Given the description of an element on the screen output the (x, y) to click on. 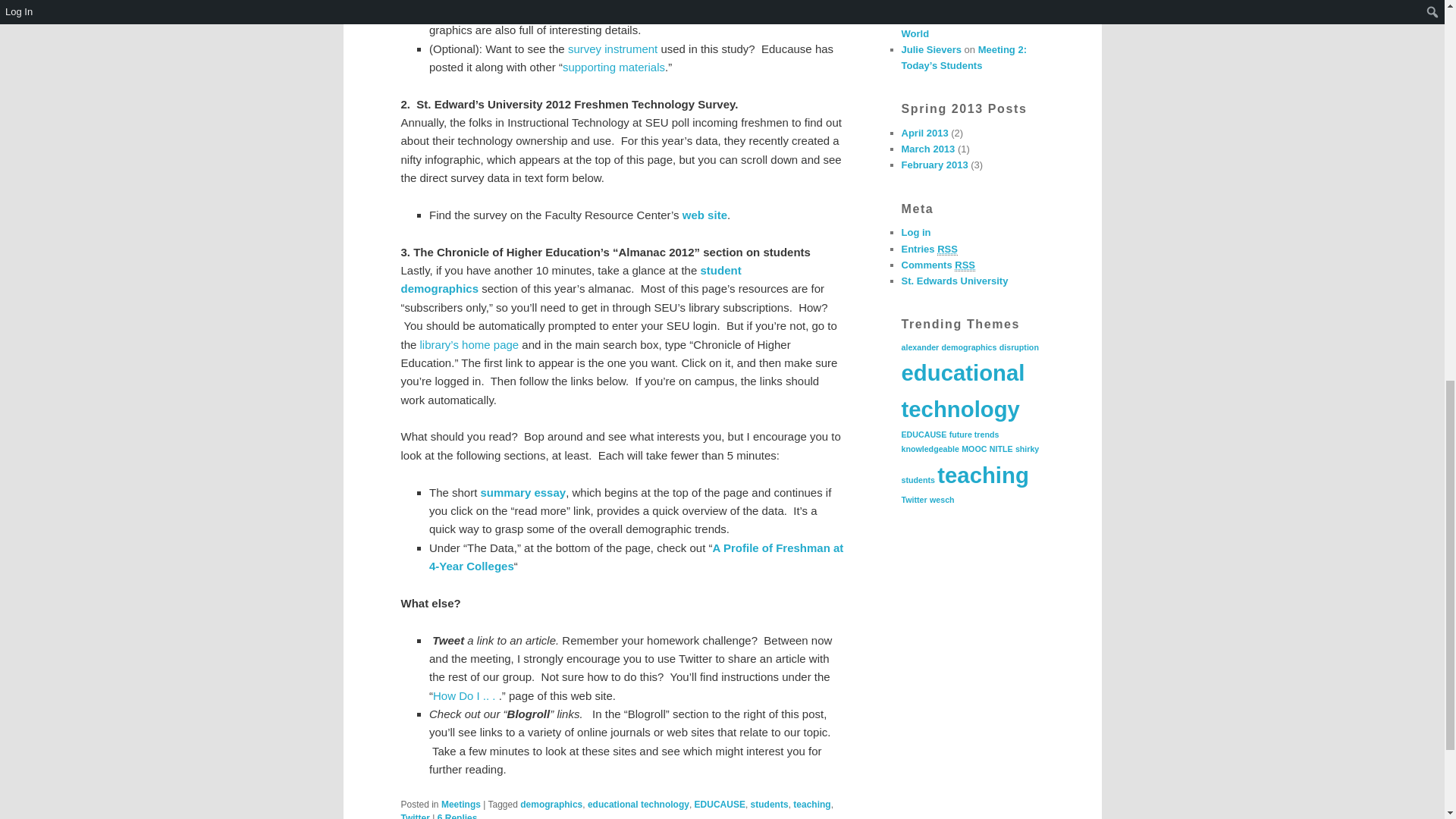
Syndicate this site using RSS 2.0 (928, 249)
demographics (550, 804)
summary essay (523, 492)
web site (704, 214)
Really Simple Syndication (947, 249)
6 Replies (457, 816)
Twitter (414, 816)
Powered by St. Edwards University (954, 280)
A Profile of Freshman at 4-Year Colleges (636, 556)
educational technology (638, 804)
supporting materials (613, 66)
Meetings (460, 804)
EDUCAUSE (719, 804)
The latest comments to all posts in RSS (938, 265)
student demographics (570, 278)
